Given the description of an element on the screen output the (x, y) to click on. 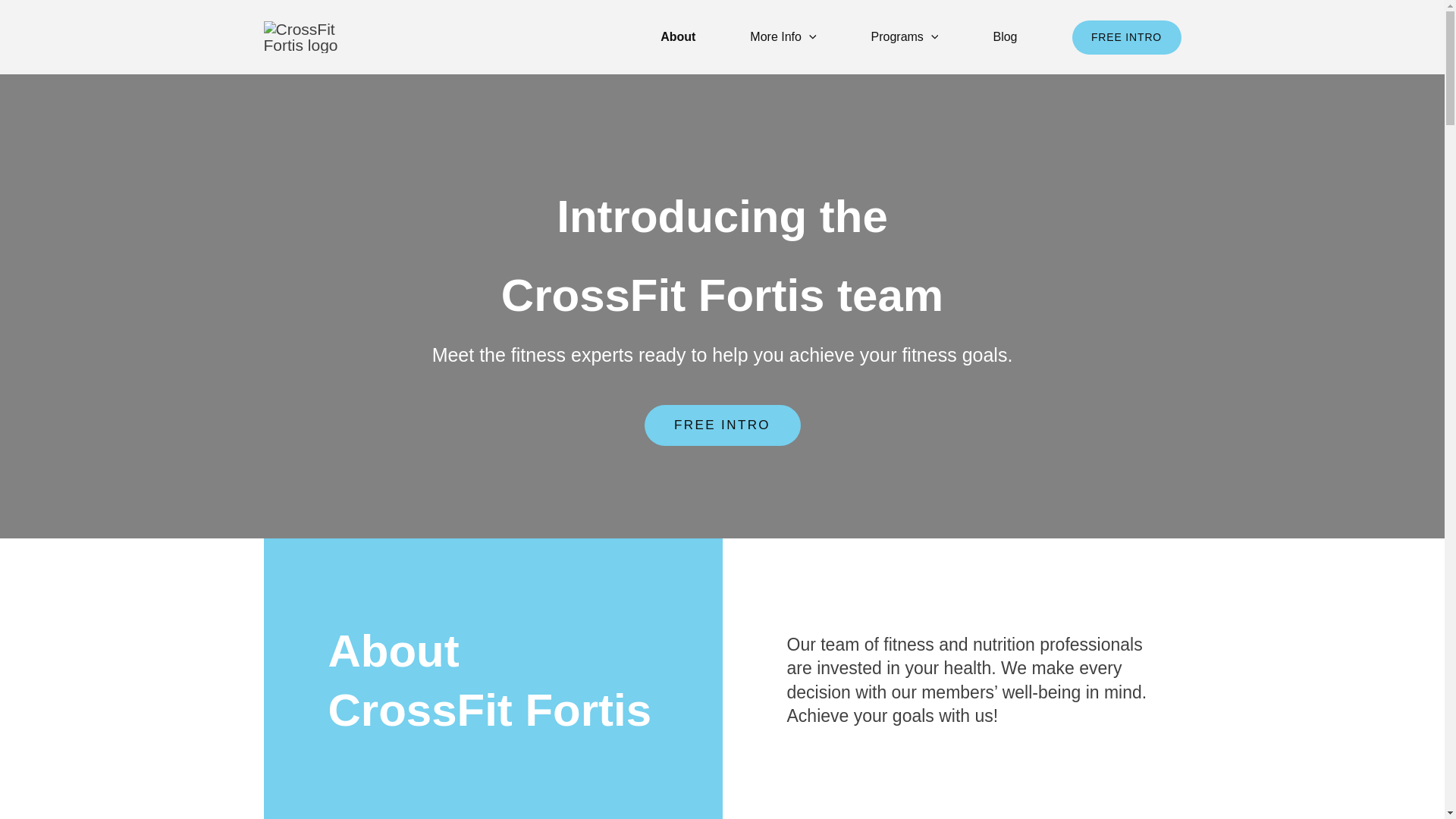
FREE INTRO (722, 424)
More Info (782, 36)
Programs (905, 36)
Blog (1004, 36)
About (677, 36)
FREE INTRO (1125, 36)
